Given the description of an element on the screen output the (x, y) to click on. 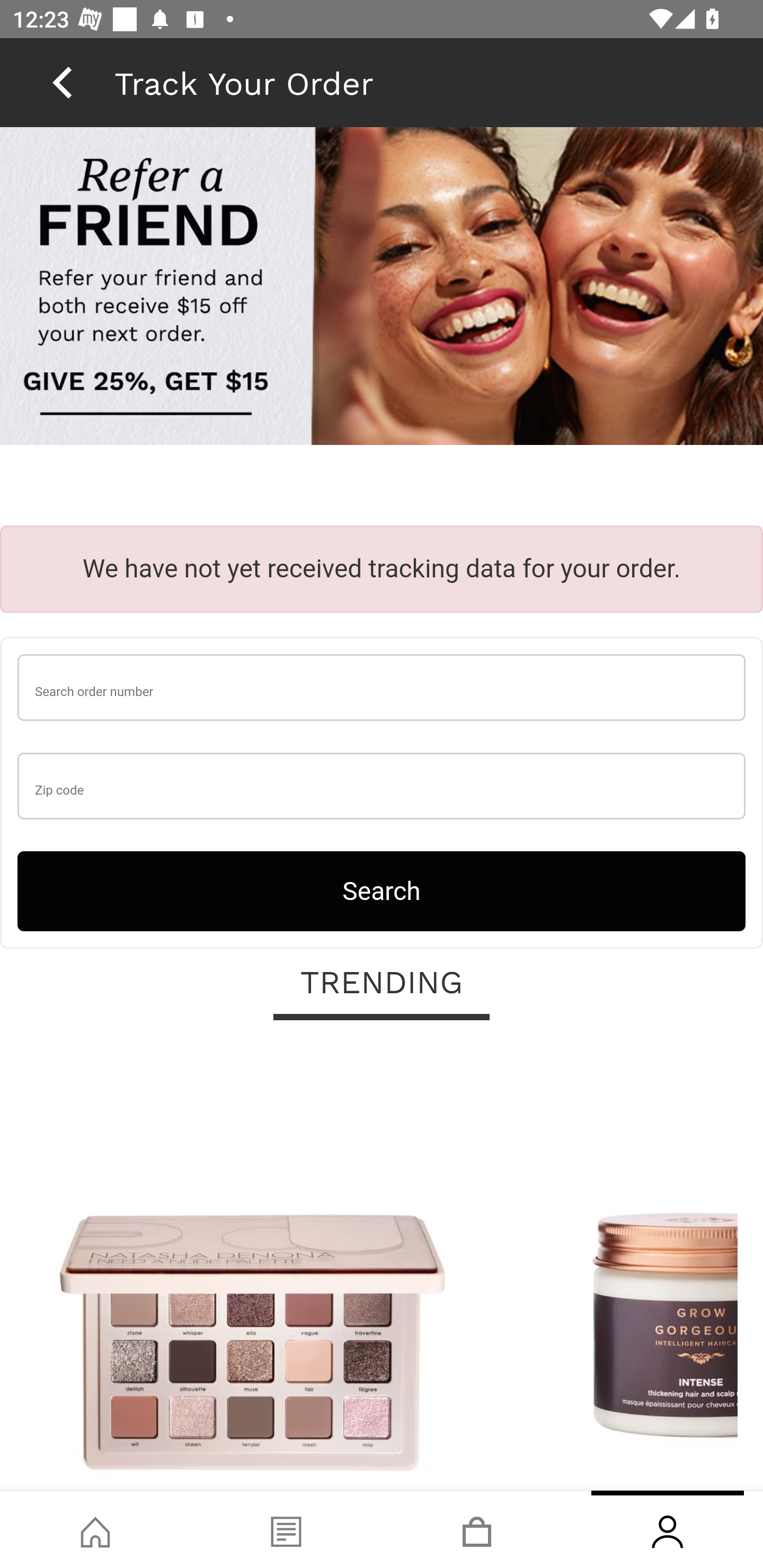
back (61, 82)
raf (381, 288)
Search (381, 890)
TRENDING (381, 983)
Natasha Denona I Need A Nude Palette (252, 1266)
Shop, tab, 1 of 4 (95, 1529)
Blog, tab, 2 of 4 (285, 1529)
Basket, tab, 3 of 4 (476, 1529)
Account, tab, 4 of 4 (667, 1529)
